Given the description of an element on the screen output the (x, y) to click on. 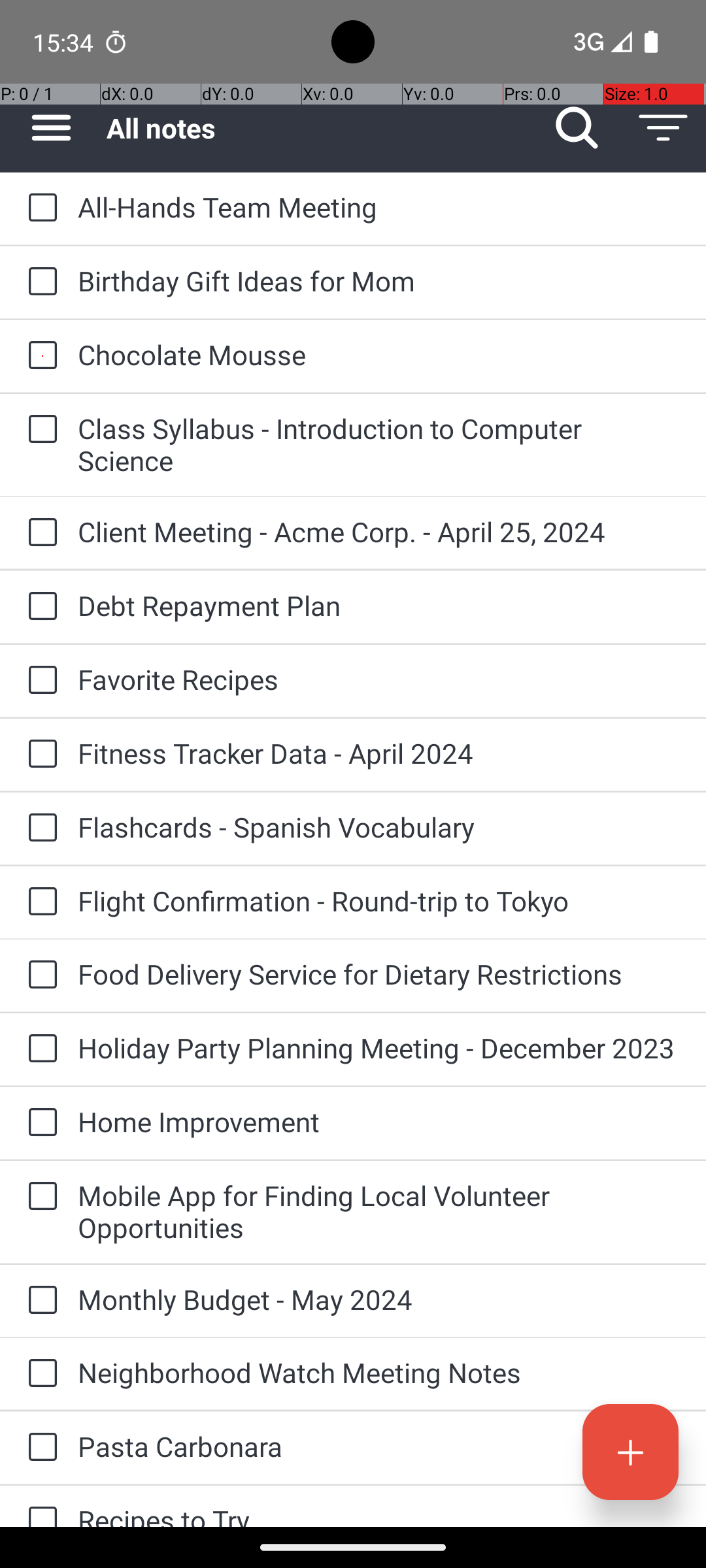
to-do: Birthday Gift Ideas for Mom Element type: android.widget.CheckBox (38, 282)
to-do: Chocolate Mousse Element type: android.widget.CheckBox (38, 356)
Chocolate Mousse Element type: android.widget.TextView (378, 354)
to-do: Class Syllabus - Introduction to Computer Science Element type: android.widget.CheckBox (38, 429)
Class Syllabus - Introduction to Computer Science Element type: android.widget.TextView (378, 443)
to-do: Debt Repayment Plan Element type: android.widget.CheckBox (38, 606)
to-do: Favorite Recipes Element type: android.widget.CheckBox (38, 680)
Favorite Recipes Element type: android.widget.TextView (378, 678)
to-do: Flashcards - Spanish Vocabulary Element type: android.widget.CheckBox (38, 828)
Flashcards - Spanish Vocabulary Element type: android.widget.TextView (378, 826)
to-do: Holiday Party Planning Meeting - December 2023 Element type: android.widget.CheckBox (38, 1049)
Holiday Party Planning Meeting - December 2023 Element type: android.widget.TextView (378, 1047)
to-do: Home Improvement Element type: android.widget.CheckBox (38, 1123)
Home Improvement Element type: android.widget.TextView (378, 1121)
to-do: Monthly Budget - May 2024 Element type: android.widget.CheckBox (38, 1300)
Monthly Budget - May 2024 Element type: android.widget.TextView (378, 1298)
to-do: Neighborhood Watch Meeting Notes Element type: android.widget.CheckBox (38, 1373)
Neighborhood Watch Meeting Notes Element type: android.widget.TextView (378, 1371)
to-do: Pasta Carbonara Element type: android.widget.CheckBox (38, 1447)
Pasta Carbonara Element type: android.widget.TextView (378, 1445)
to-do: Recipes to Try Element type: android.widget.CheckBox (38, 1505)
Recipes to Try Element type: android.widget.TextView (378, 1513)
